Given the description of an element on the screen output the (x, y) to click on. 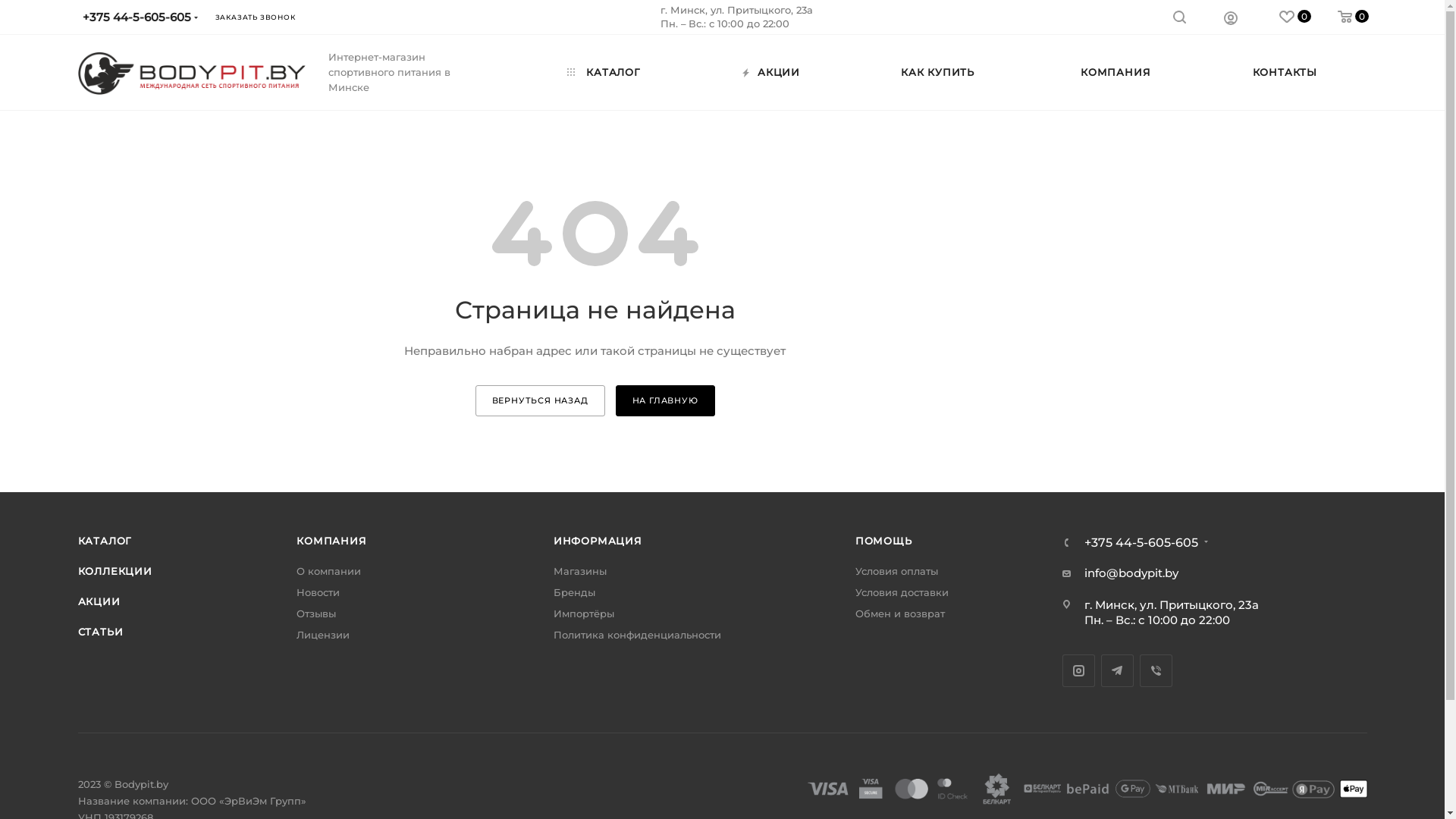
0 Element type: text (1339, 17)
info@bodypit.by Element type: text (1131, 572)
Viber Element type: text (1155, 670)
0 Element type: text (1281, 17)
+375 44-5-605-605 Element type: text (1141, 542)
Instagram Element type: text (1078, 670)
Telegram Element type: text (1117, 670)
